Given the description of an element on the screen output the (x, y) to click on. 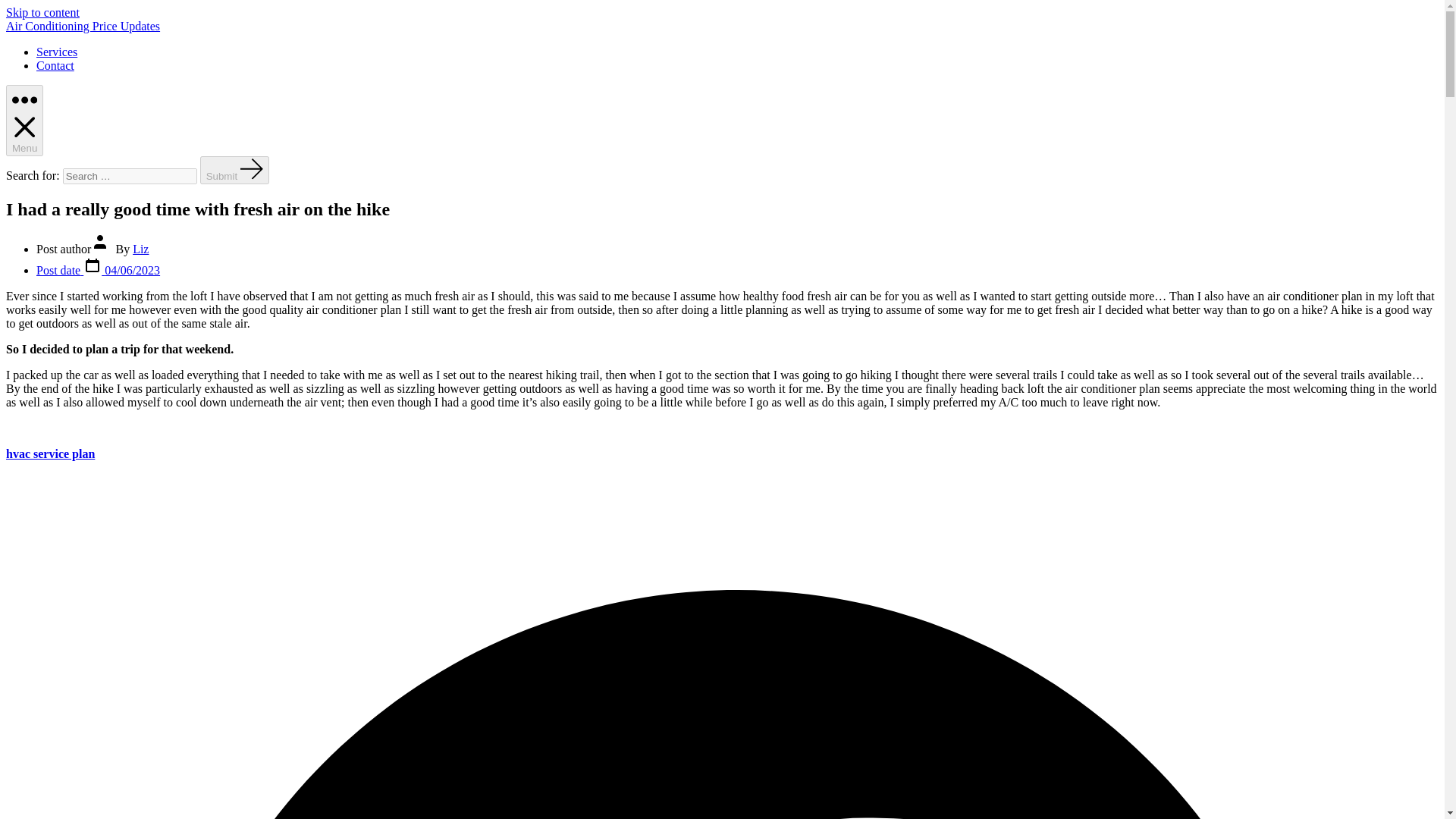
Skip to content (42, 11)
Submit (234, 170)
Contact (55, 65)
Liz (140, 248)
Menu (24, 120)
Services (56, 51)
hvac service plan (49, 453)
Air Conditioning Price Updates (82, 25)
